Given the description of an element on the screen output the (x, y) to click on. 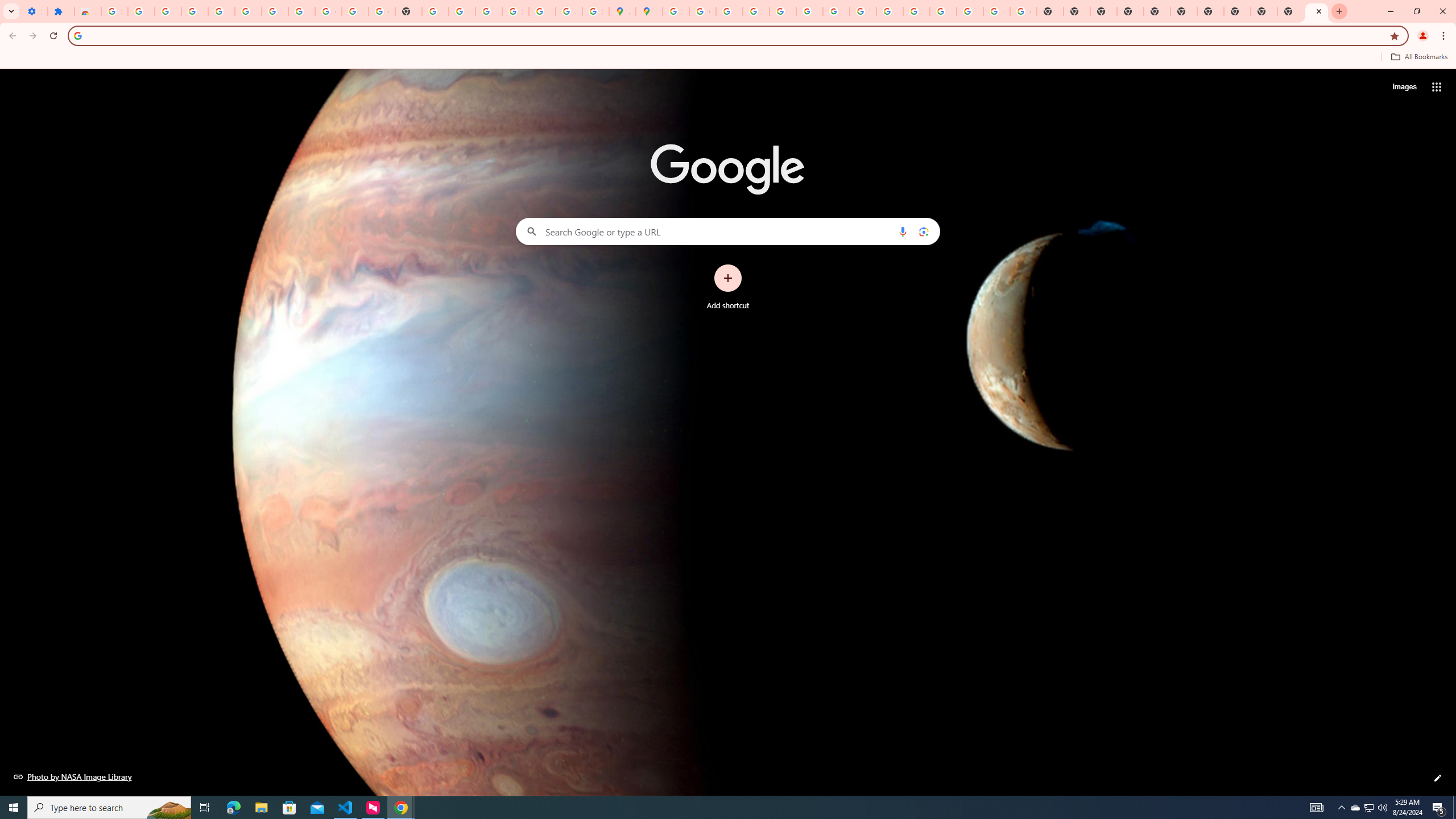
Privacy Help Center - Policies Help (729, 11)
Sign in - Google Accounts (676, 11)
Delete photos & videos - Computer - Google Photos Help (194, 11)
Google Images (1023, 11)
Sign in - Google Accounts (275, 11)
Search by voice (902, 230)
https://scholar.google.com/ (435, 11)
